Given the description of an element on the screen output the (x, y) to click on. 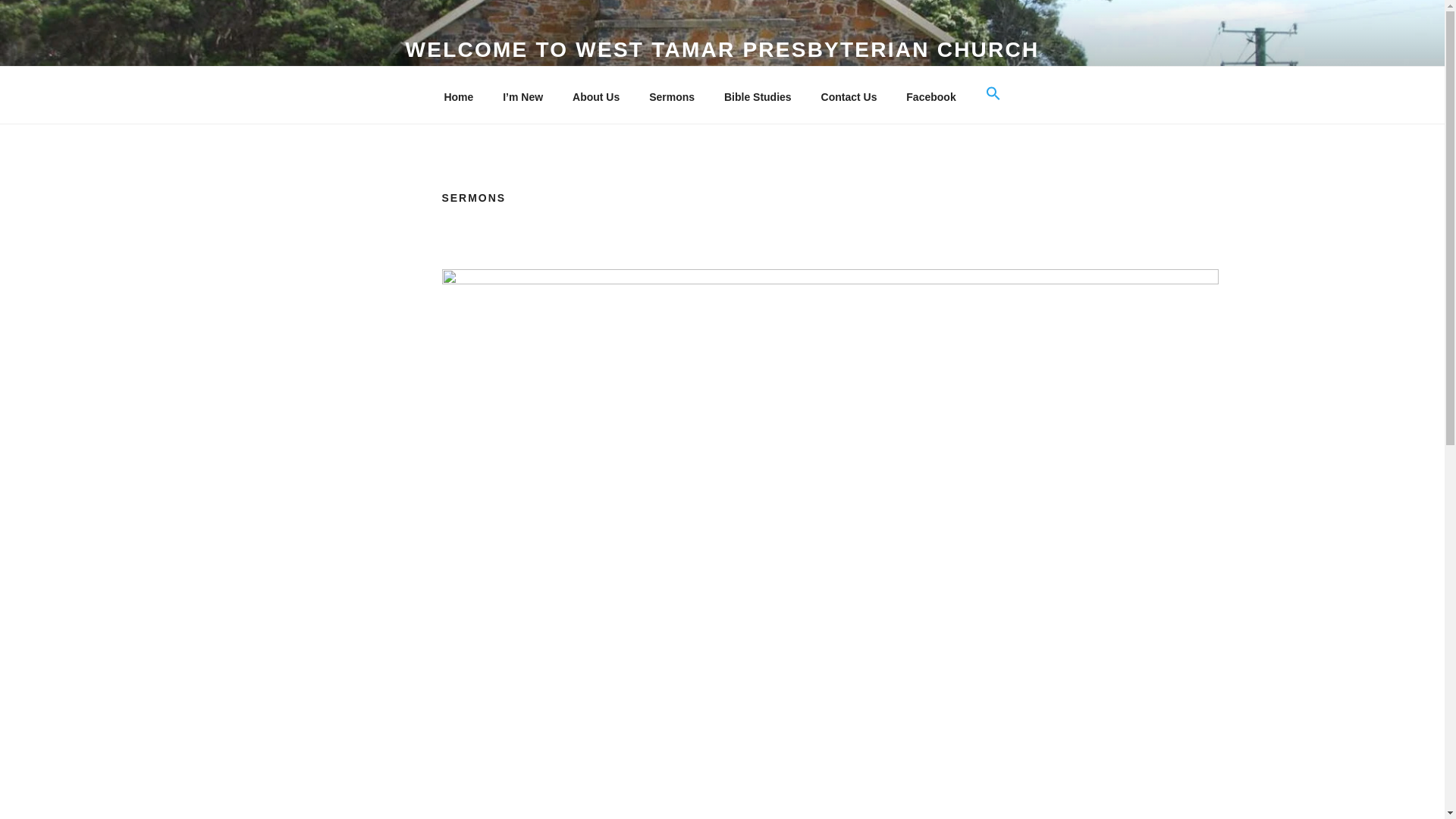
Sermons (671, 97)
Home (458, 97)
Bible Studies (757, 97)
Contact Us (848, 97)
About Us (596, 97)
Facebook (931, 97)
WELCOME TO WEST TAMAR PRESBYTERIAN CHURCH (722, 49)
